Given the description of an element on the screen output the (x, y) to click on. 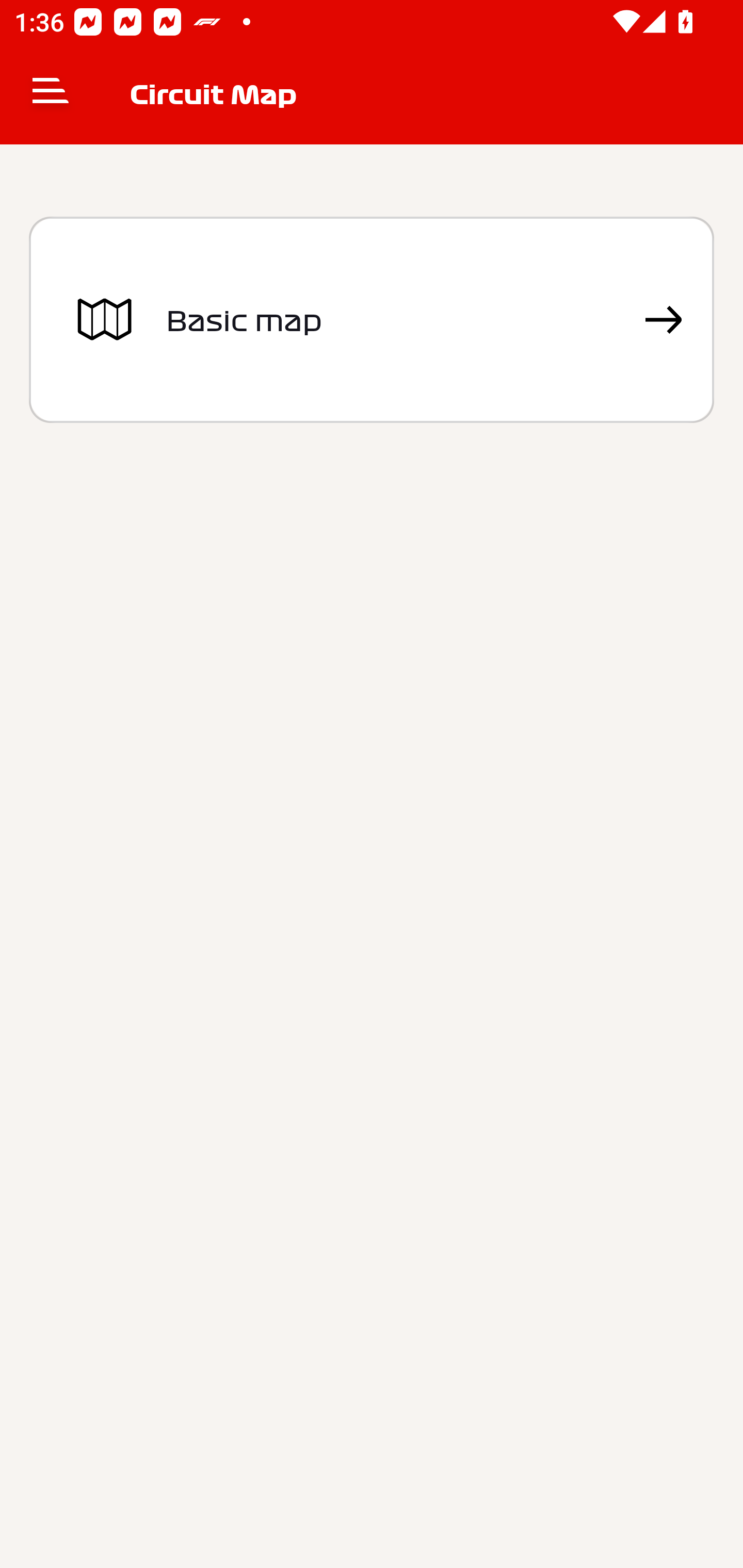
Navigate up (50, 93)
Basic map (371, 319)
